Given the description of an element on the screen output the (x, y) to click on. 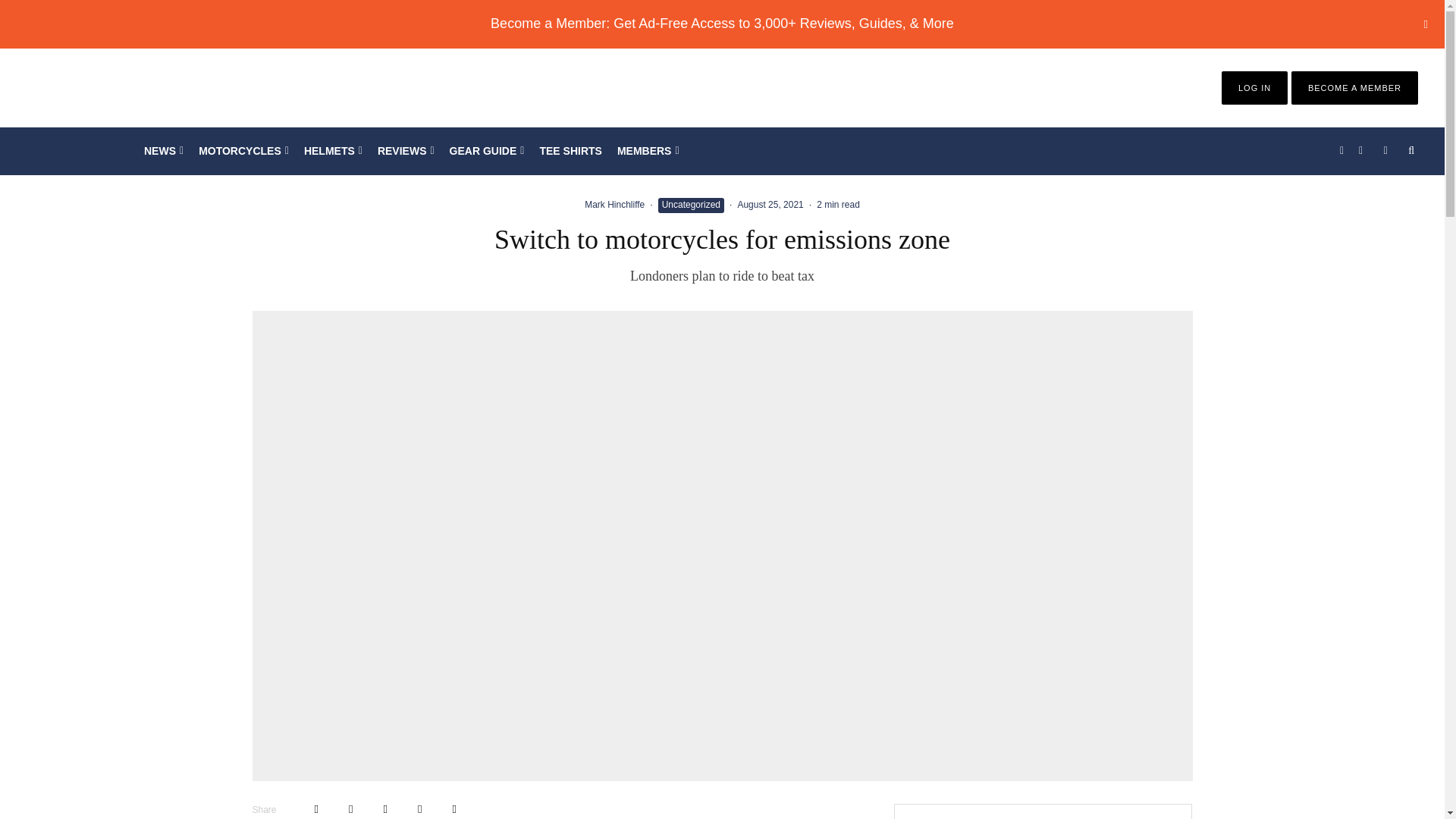
BECOME A MEMBER (1353, 87)
NEWS (163, 150)
MOTORCYCLES (243, 150)
LOG IN (1255, 87)
